Given the description of an element on the screen output the (x, y) to click on. 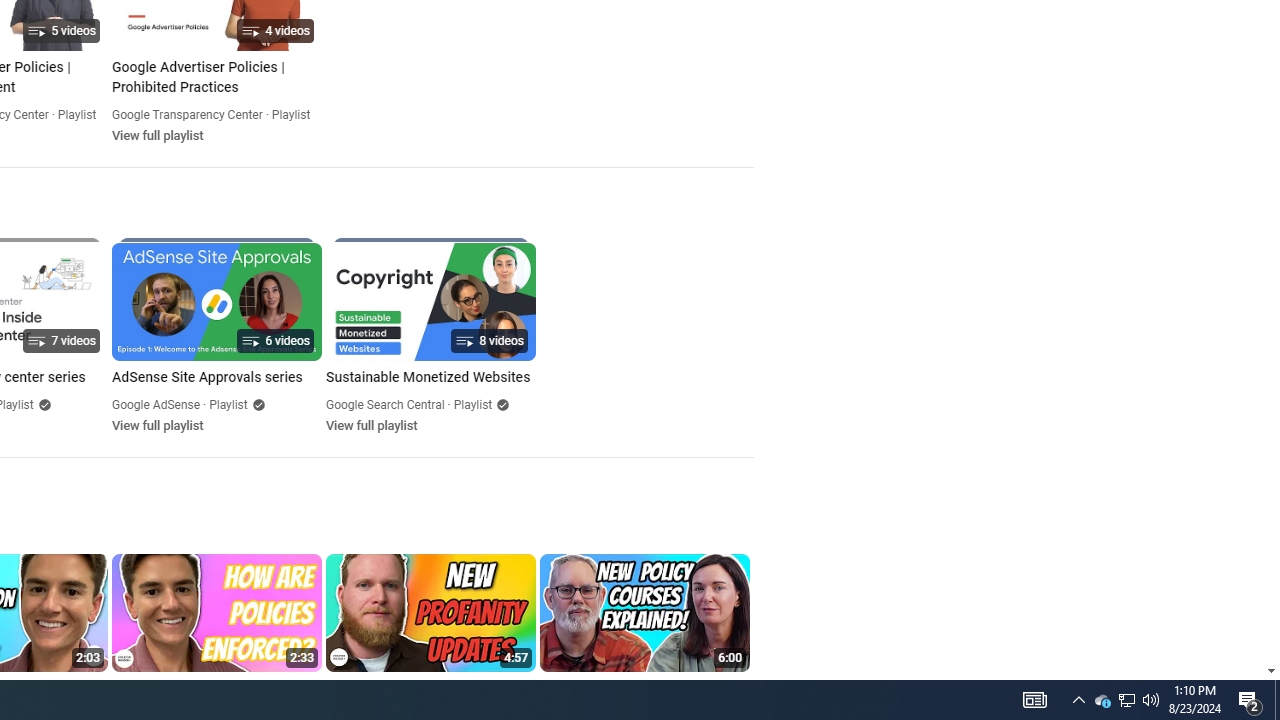
Verified (500, 403)
Action menu (736, 687)
Playlist (472, 404)
Google Advertiser Policies | Prohibited Practices (216, 77)
Google AdSense (155, 404)
Sustainable Monetized Websites (430, 377)
Google Transparency Center (187, 114)
Google Search Central (385, 404)
AdSense Site Approvals series (216, 377)
View full playlist (371, 425)
